Given the description of an element on the screen output the (x, y) to click on. 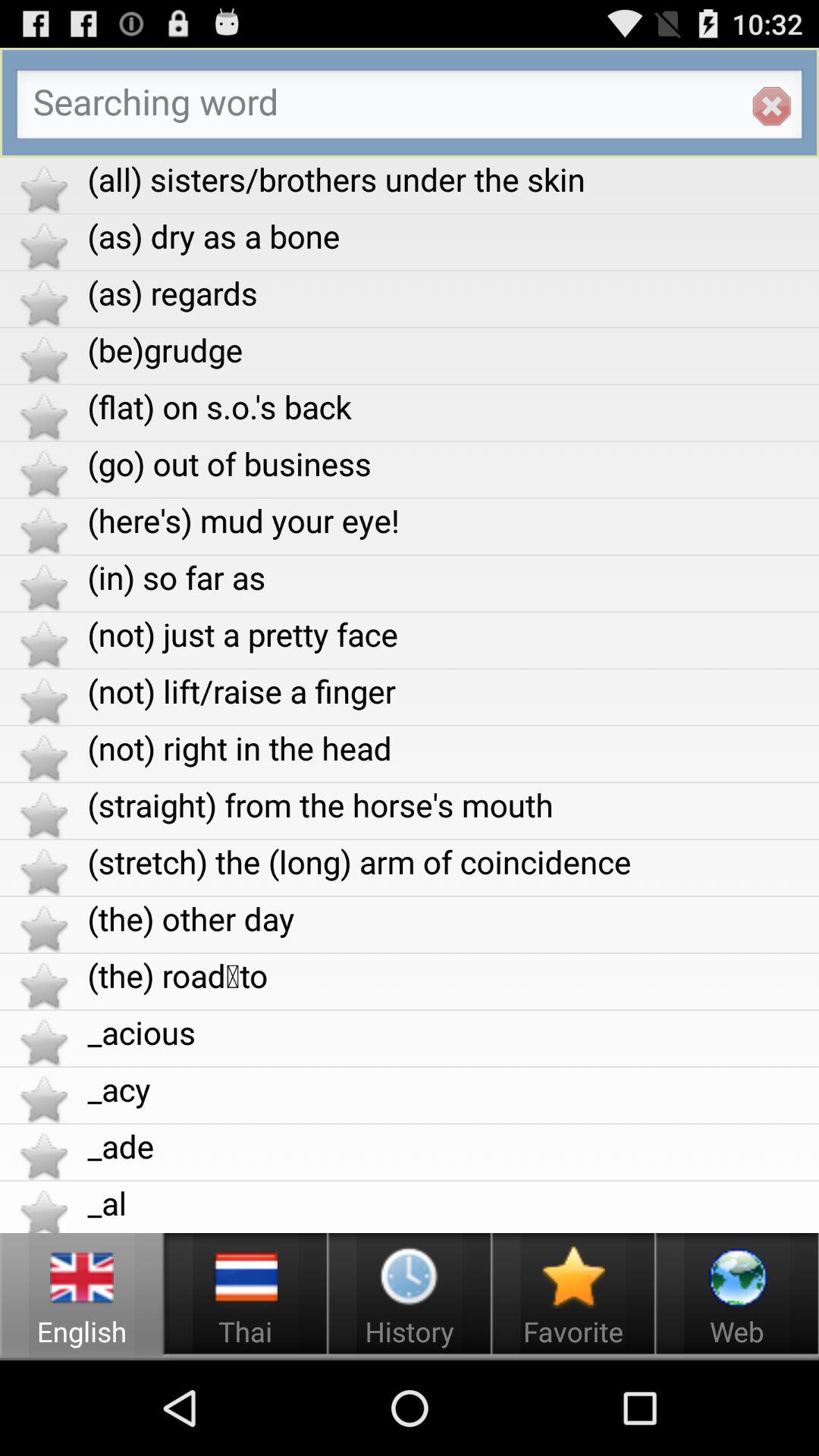
select the star icon on left to the text not just a pretty face on the web page (43, 644)
click on the star beside the other day (43, 928)
click on the icon above web at bottom right corner (737, 1276)
